Given the description of an element on the screen output the (x, y) to click on. 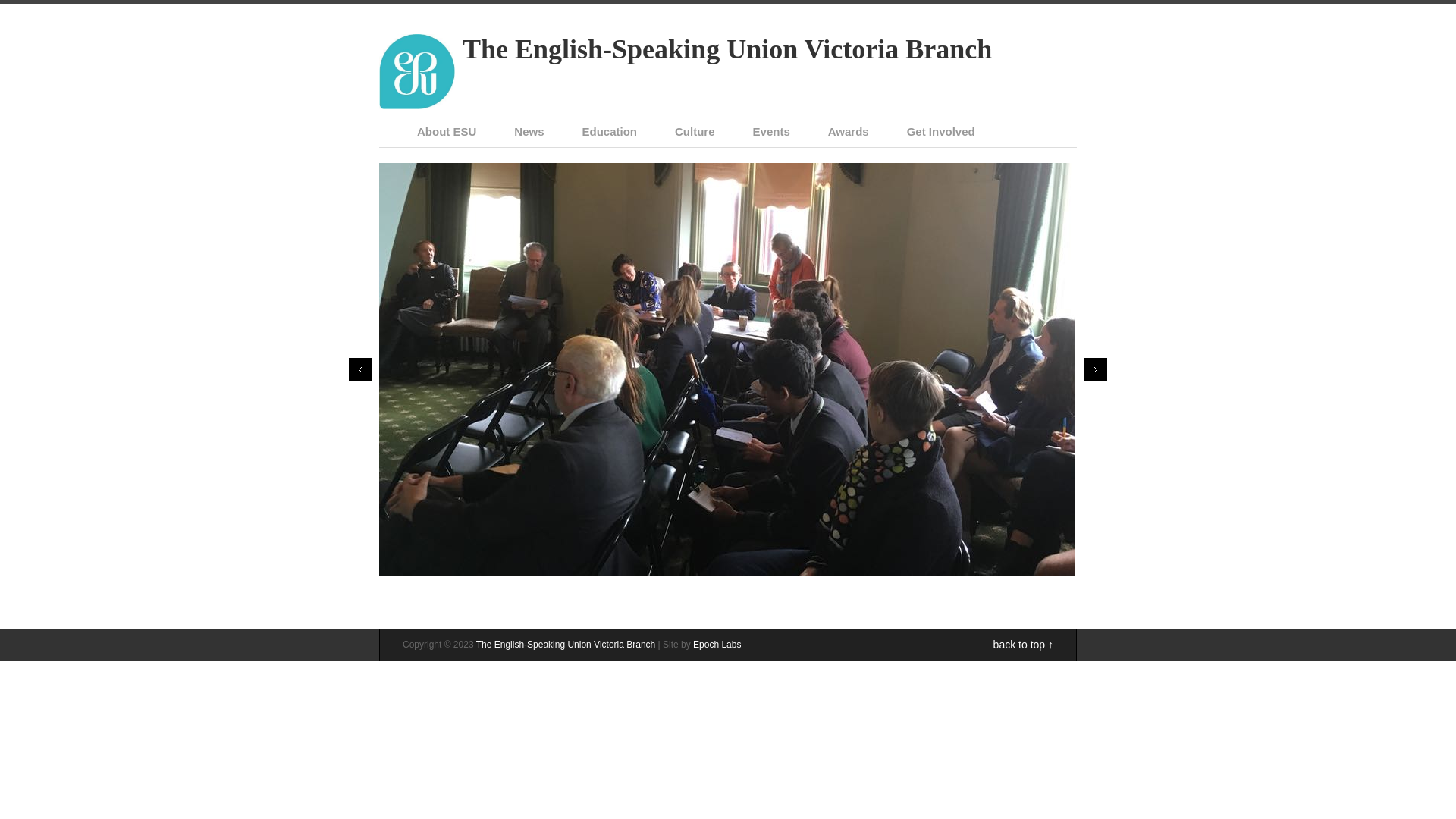
Education Element type: text (609, 131)
Next Element type: text (1095, 368)
News Element type: text (528, 131)
Get Involved Element type: text (940, 131)
Awards Element type: text (848, 131)
Home Element type: hover (417, 105)
Culture Element type: text (694, 131)
About ESU Element type: text (446, 131)
Epoch Labs Element type: text (716, 644)
Events Element type: text (771, 131)
The English-Speaking Union Victoria Branch Element type: text (565, 644)
The English-Speaking Union Victoria Branch Element type: text (726, 49)
Prev Element type: text (359, 368)
